Given the description of an element on the screen output the (x, y) to click on. 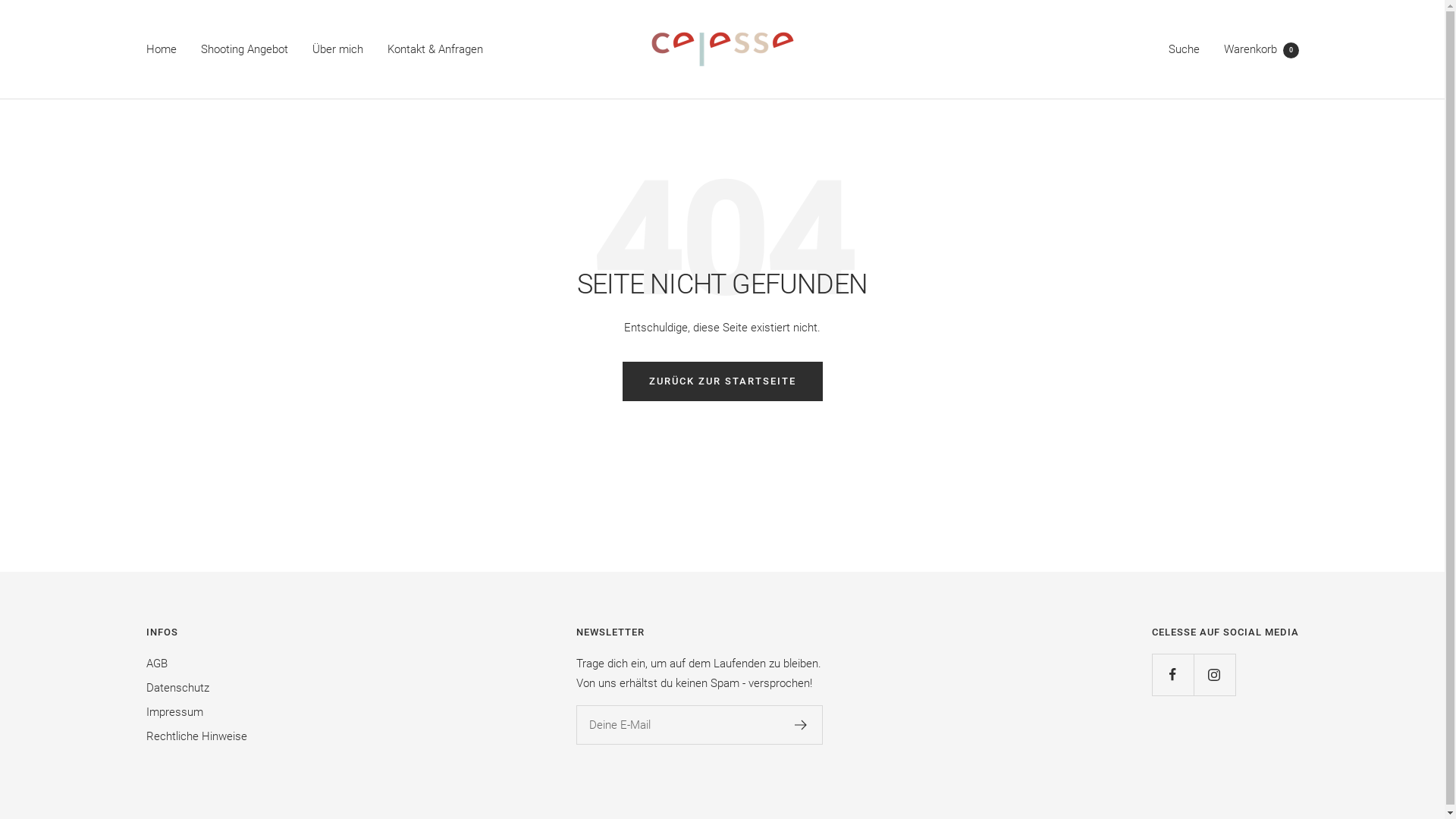
AGB Element type: text (155, 663)
Registrieren Element type: hover (800, 724)
Celesse Element type: text (722, 48)
Shooting Angebot Element type: text (243, 49)
Datenschutz Element type: text (176, 687)
Impressum Element type: text (173, 711)
Suche Element type: text (1182, 49)
Rechtliche Hinweise Element type: text (195, 736)
Kontakt & Anfragen Element type: text (434, 49)
Warenkorb
0 Element type: text (1261, 49)
Home Element type: text (160, 49)
